Given the description of an element on the screen output the (x, y) to click on. 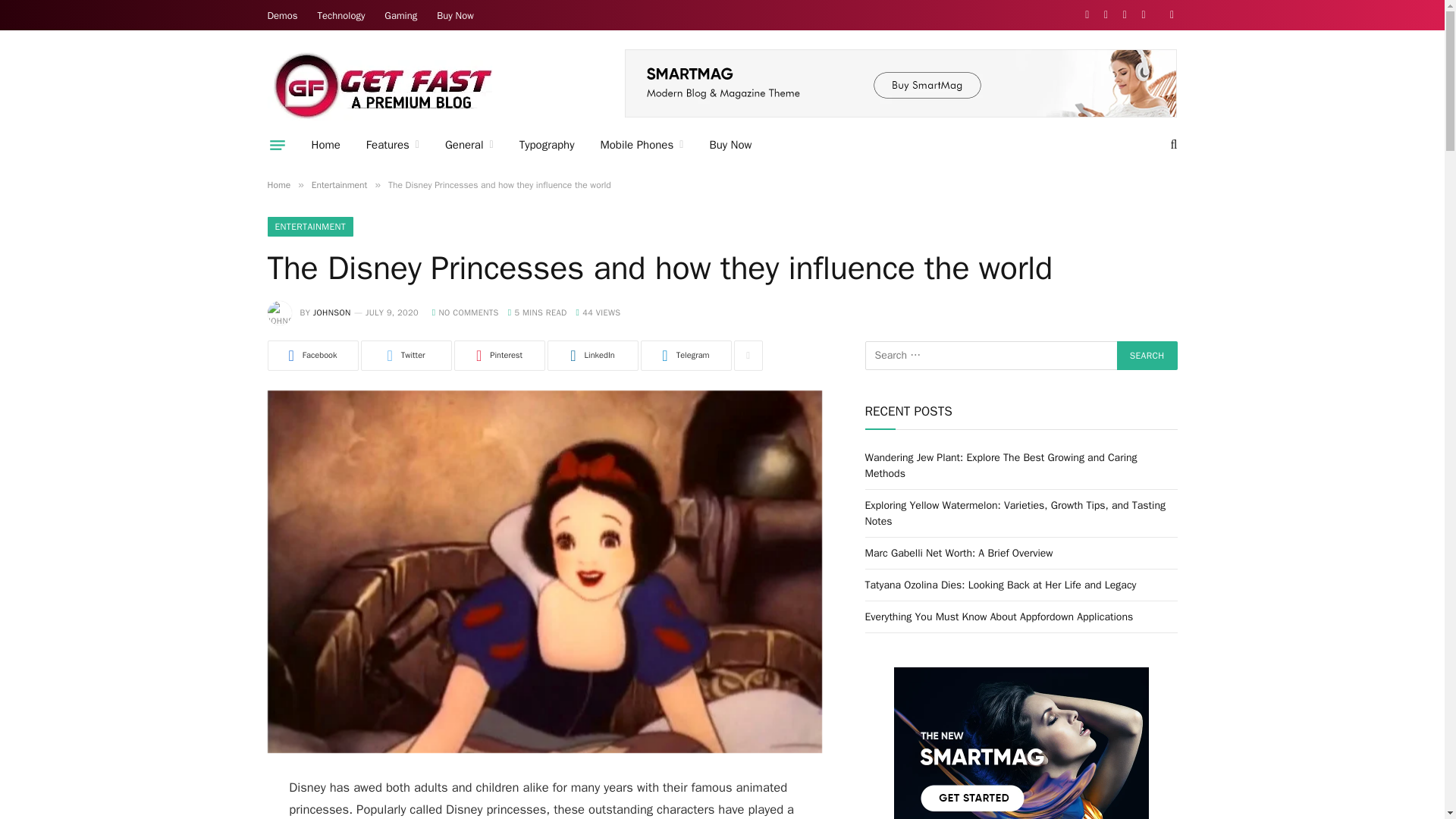
Home (325, 144)
Gaming (400, 15)
Get Fast (380, 84)
Demos (282, 15)
Search (1146, 355)
Switch to Dark Design - easier on eyes. (1169, 14)
Features (392, 144)
Search (1146, 355)
Buy Now (454, 15)
General (469, 144)
